Given the description of an element on the screen output the (x, y) to click on. 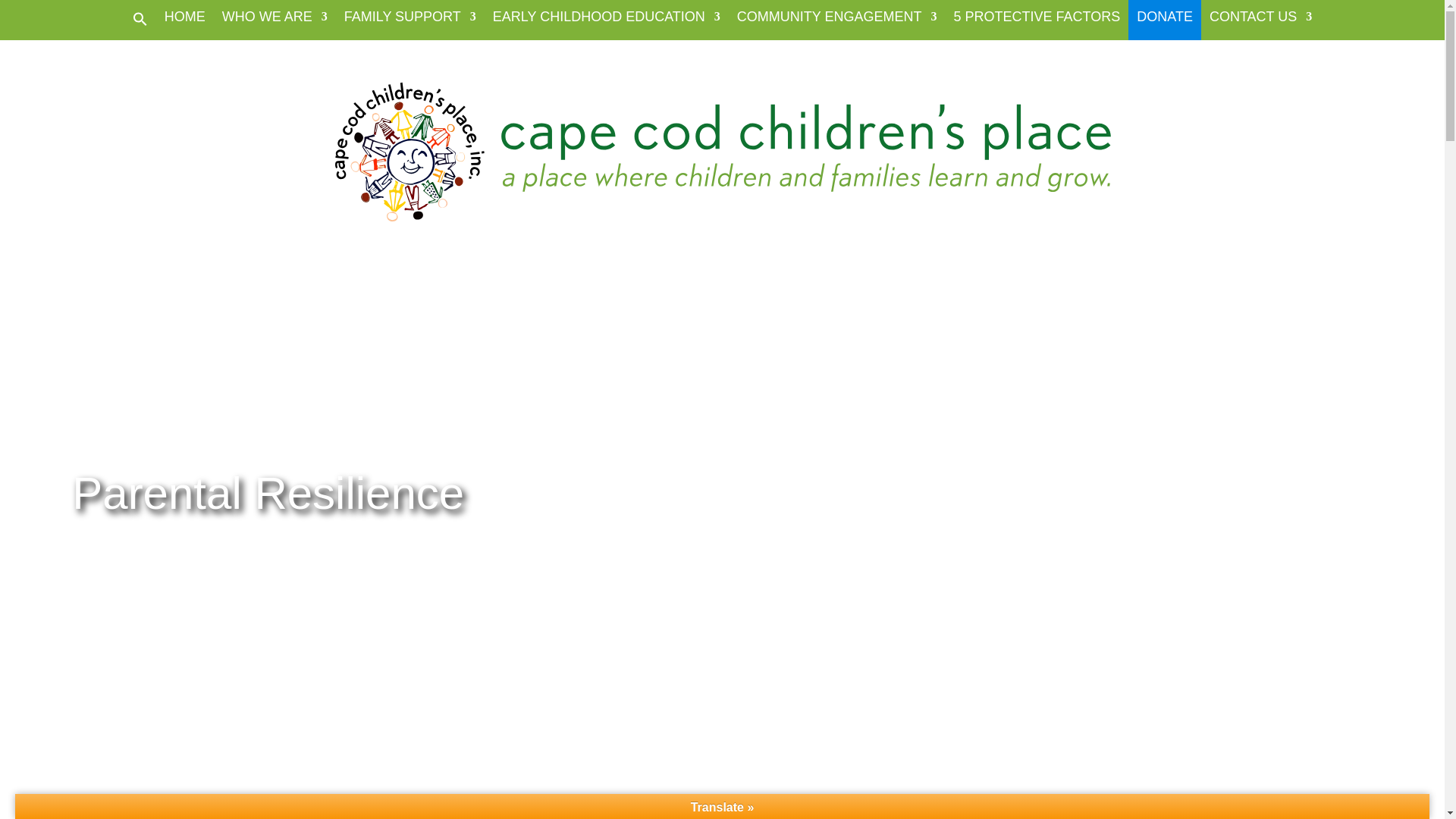
COMMUNITY ENGAGEMENT (836, 23)
5 PROTECTIVE FACTORS (1037, 23)
EARLY CHILDHOOD EDUCATION (606, 23)
CONTACT US (1260, 23)
HOME (184, 23)
DONATE (1164, 23)
Search (157, 8)
FAMILY SUPPORT (409, 23)
WHO WE ARE (274, 23)
Search (157, 8)
